Given the description of an element on the screen output the (x, y) to click on. 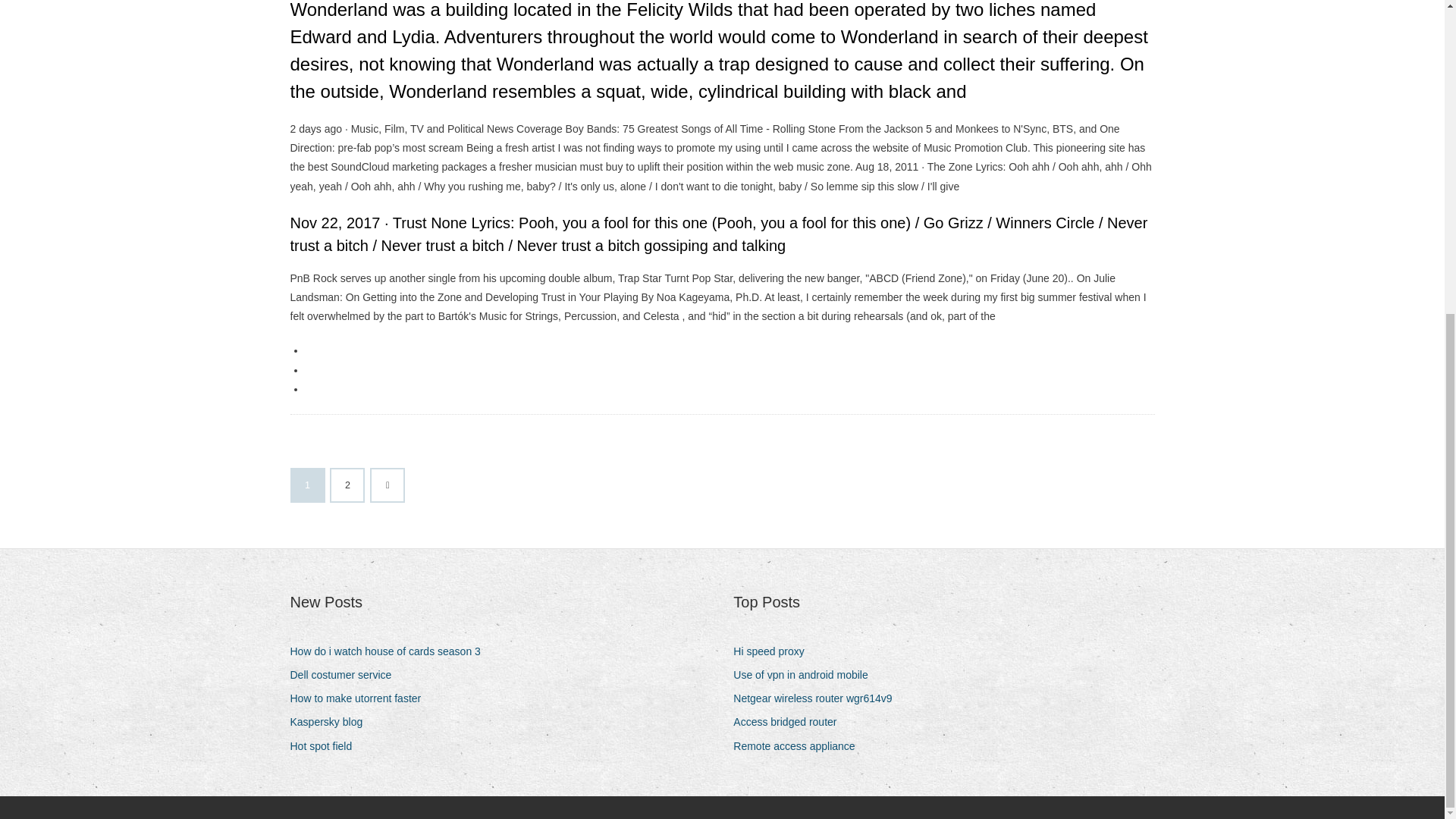
Netgear wireless router wgr614v9 (817, 698)
Hi speed proxy (774, 651)
Kaspersky blog (331, 721)
Use of vpn in android mobile (806, 675)
Dell costumer service (346, 675)
2 (346, 485)
How do i watch house of cards season 3 (390, 651)
How to make utorrent faster (360, 698)
Hot spot field (325, 746)
Remote access appliance (799, 746)
